Given the description of an element on the screen output the (x, y) to click on. 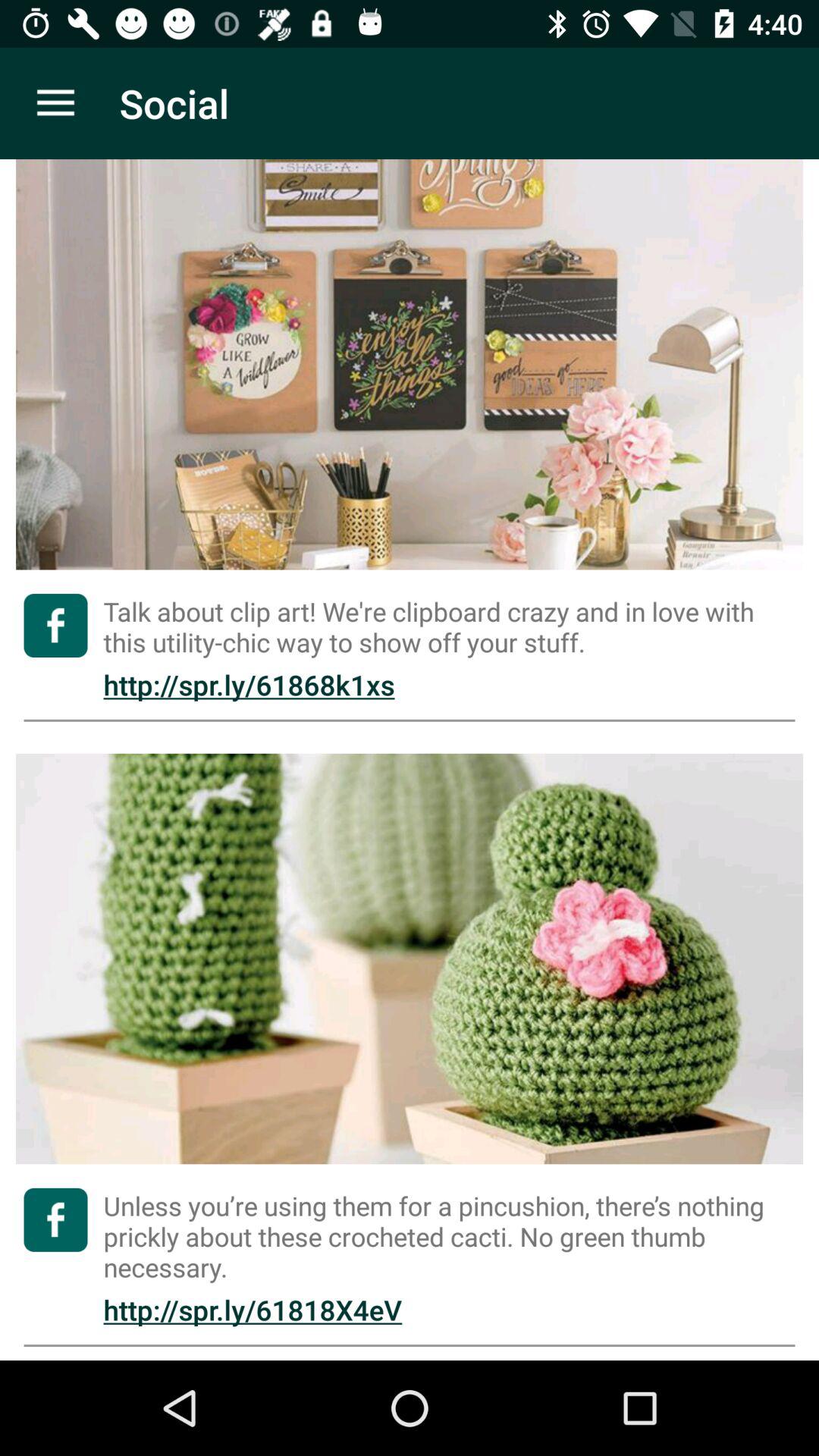
tap the item next to the social app (55, 103)
